Given the description of an element on the screen output the (x, y) to click on. 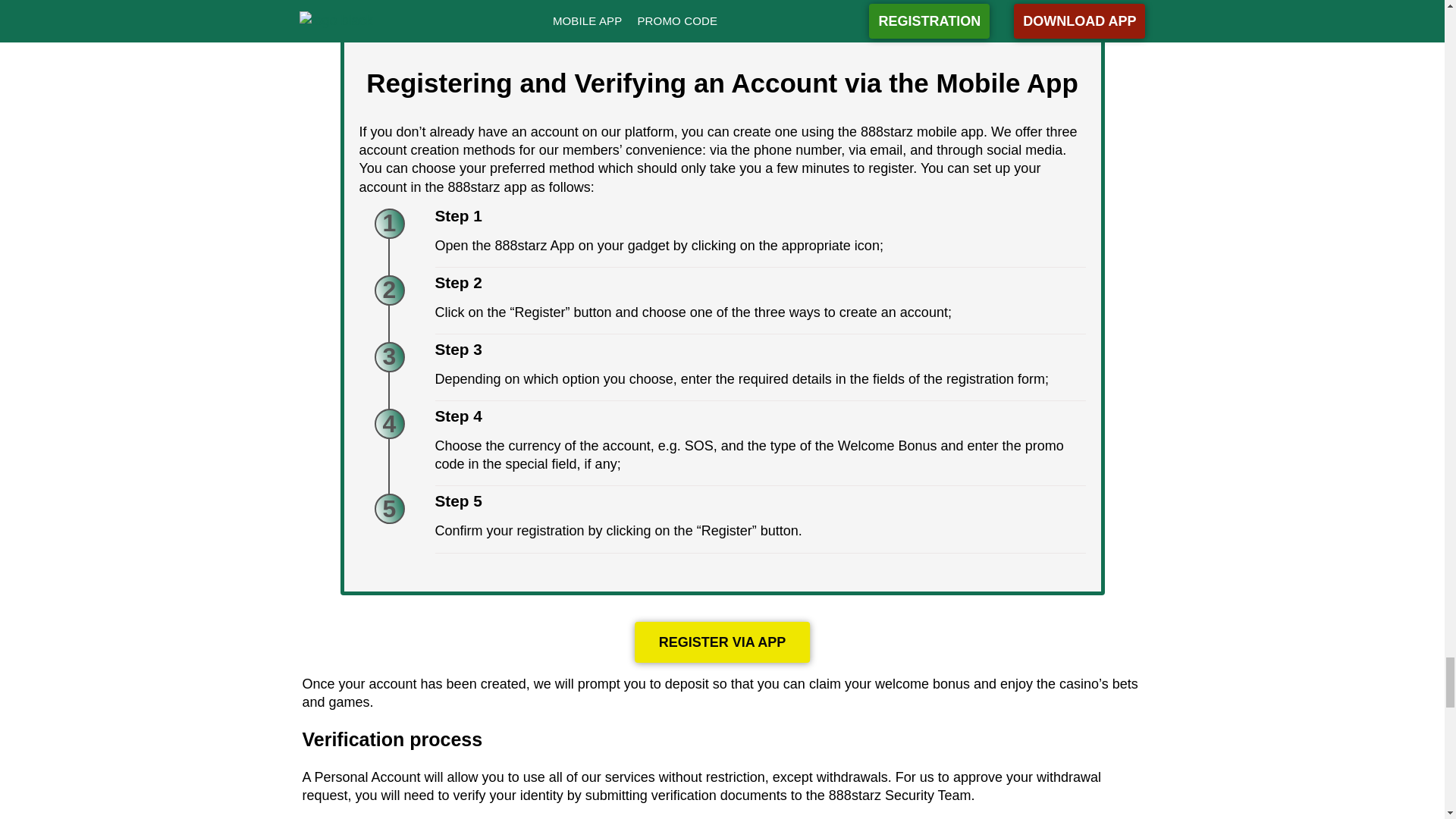
REGISTER VIA APP (722, 641)
